Given the description of an element on the screen output the (x, y) to click on. 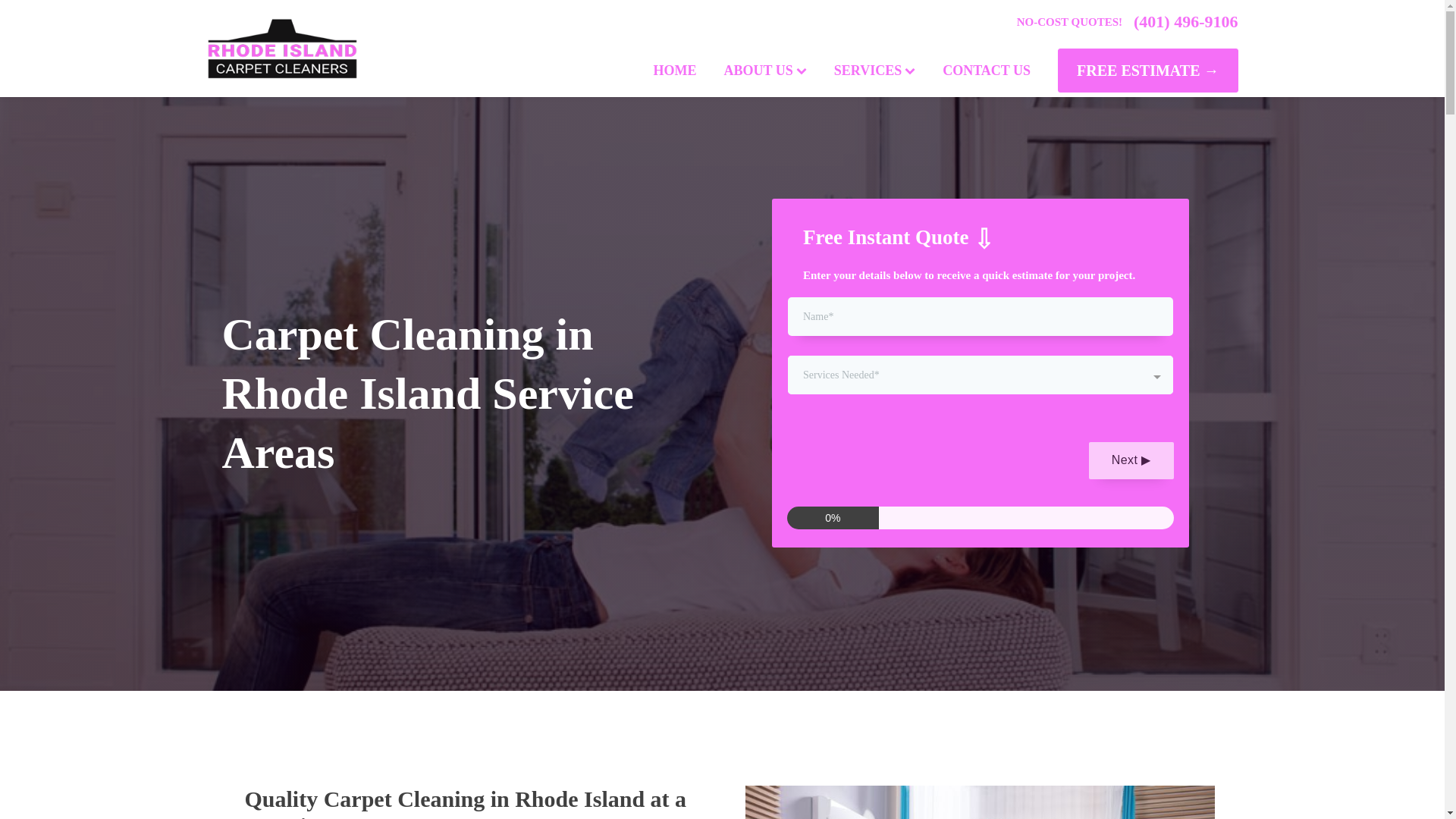
HOME (675, 70)
CONTACT US (985, 70)
ABOUT US (765, 70)
SERVICES (874, 70)
